Given the description of an element on the screen output the (x, y) to click on. 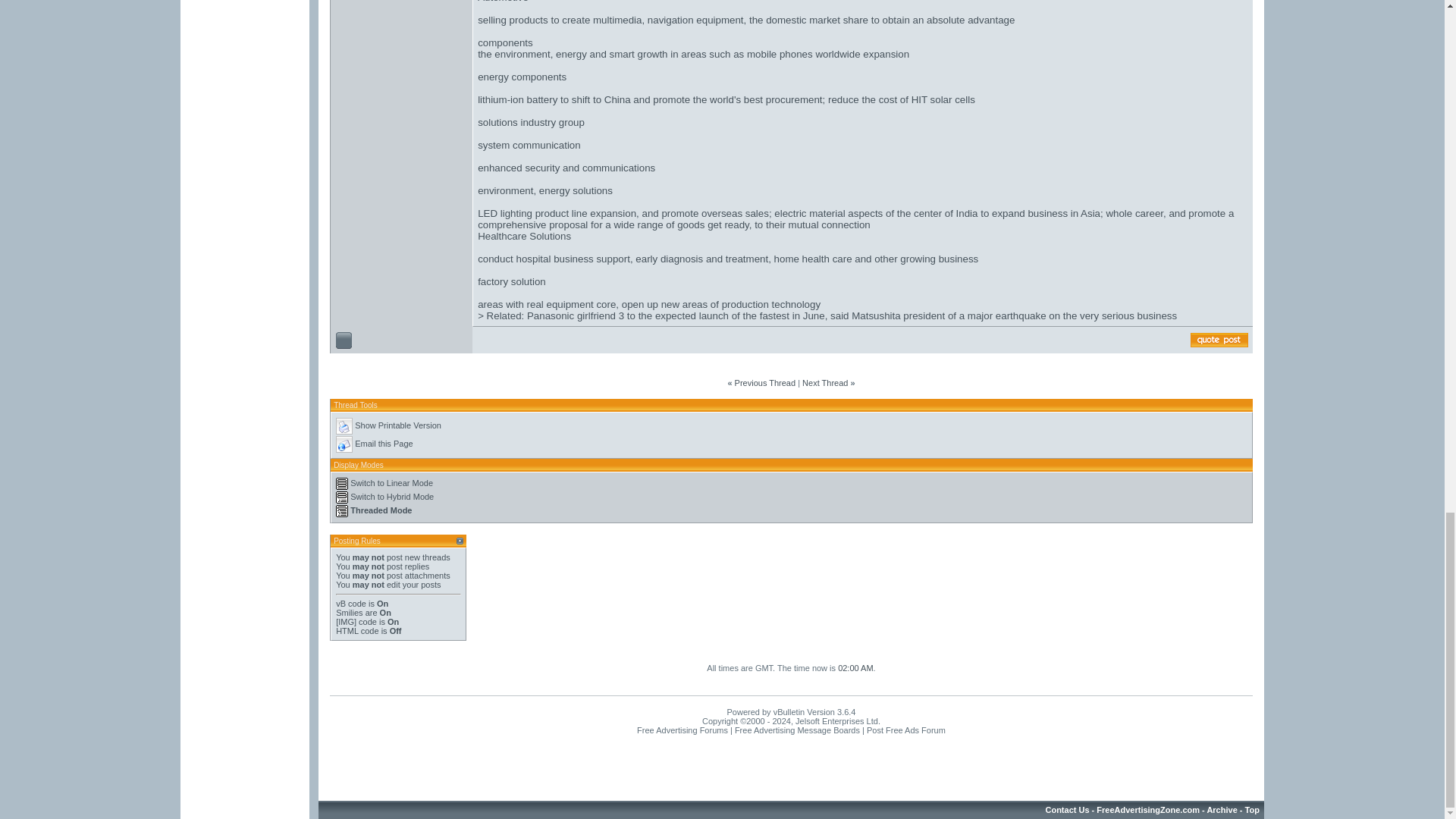
Previous Thread (765, 382)
Linear Mode (341, 483)
Next Thread (824, 382)
Email this Page (383, 442)
Email this Page (344, 443)
Threaded Mode (341, 510)
jordan52781 is offline (343, 339)
Reply With Quote (1219, 339)
Hybrid Mode (341, 497)
Show Printable Version (344, 425)
Show Printable Version (398, 424)
